Given the description of an element on the screen output the (x, y) to click on. 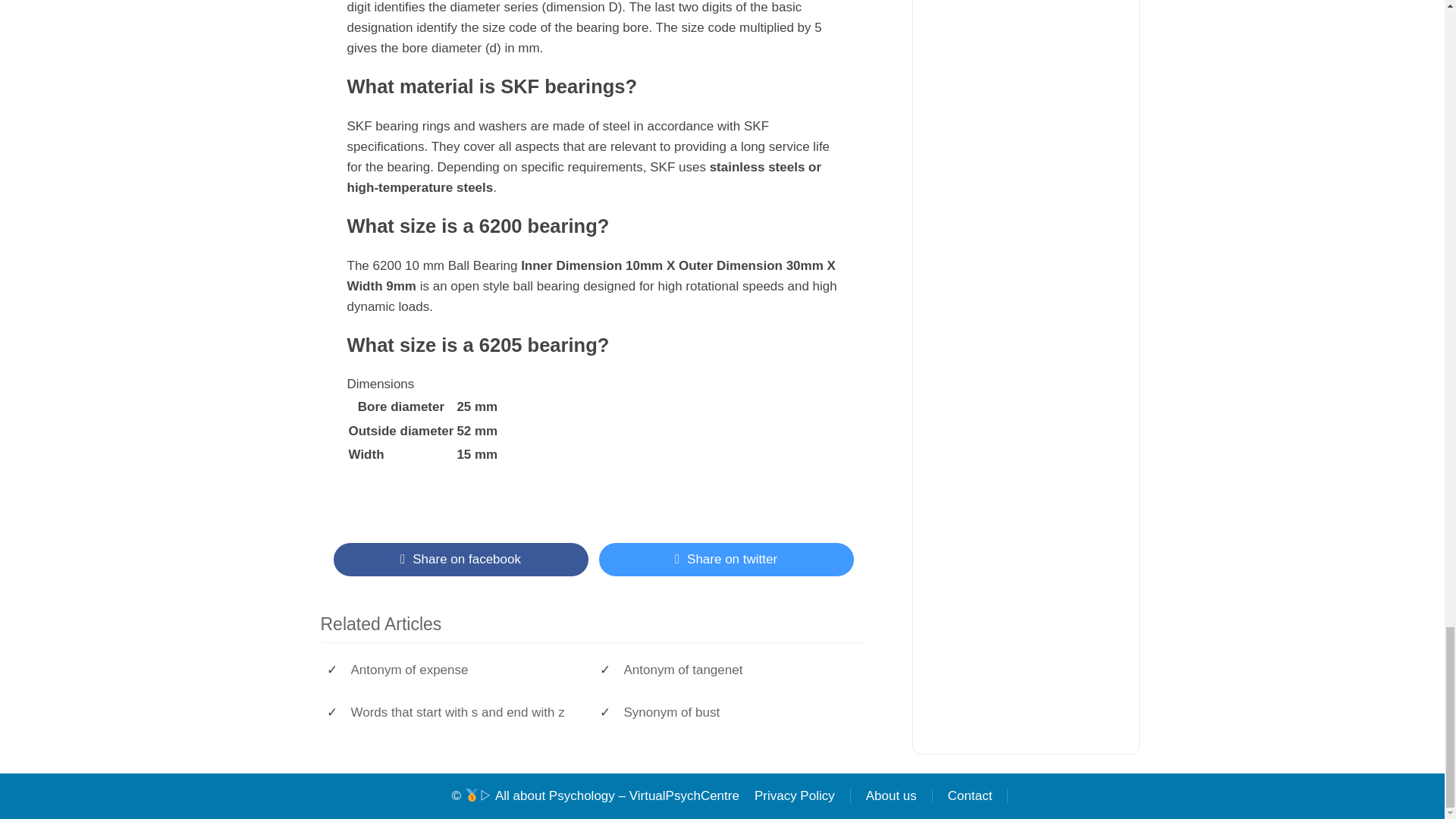
Share on facebook (460, 559)
Contact (971, 795)
Antonym of tangenet (736, 670)
Synonym of bust (736, 712)
Antonym of tangenet (736, 670)
Antonym of expense (464, 670)
Words that start with s and end with z (464, 712)
Privacy Policy (794, 795)
Words that start with s and end with z (464, 712)
Share on twitter (725, 559)
Synonym of bust (736, 712)
Antonym of expense (464, 670)
Share on Facebook (460, 559)
About us (891, 795)
